Given the description of an element on the screen output the (x, y) to click on. 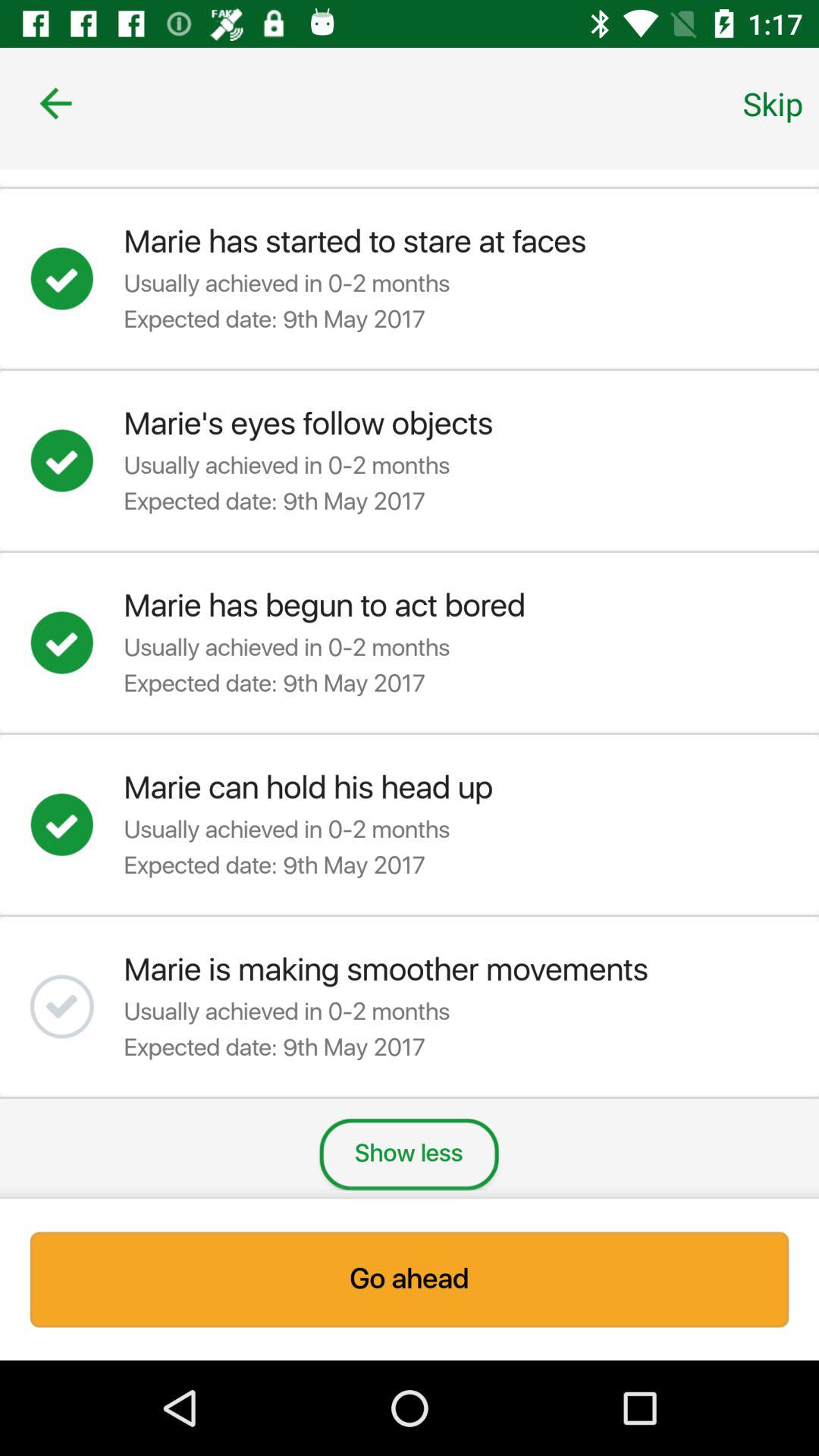
select article (76, 278)
